Given the description of an element on the screen output the (x, y) to click on. 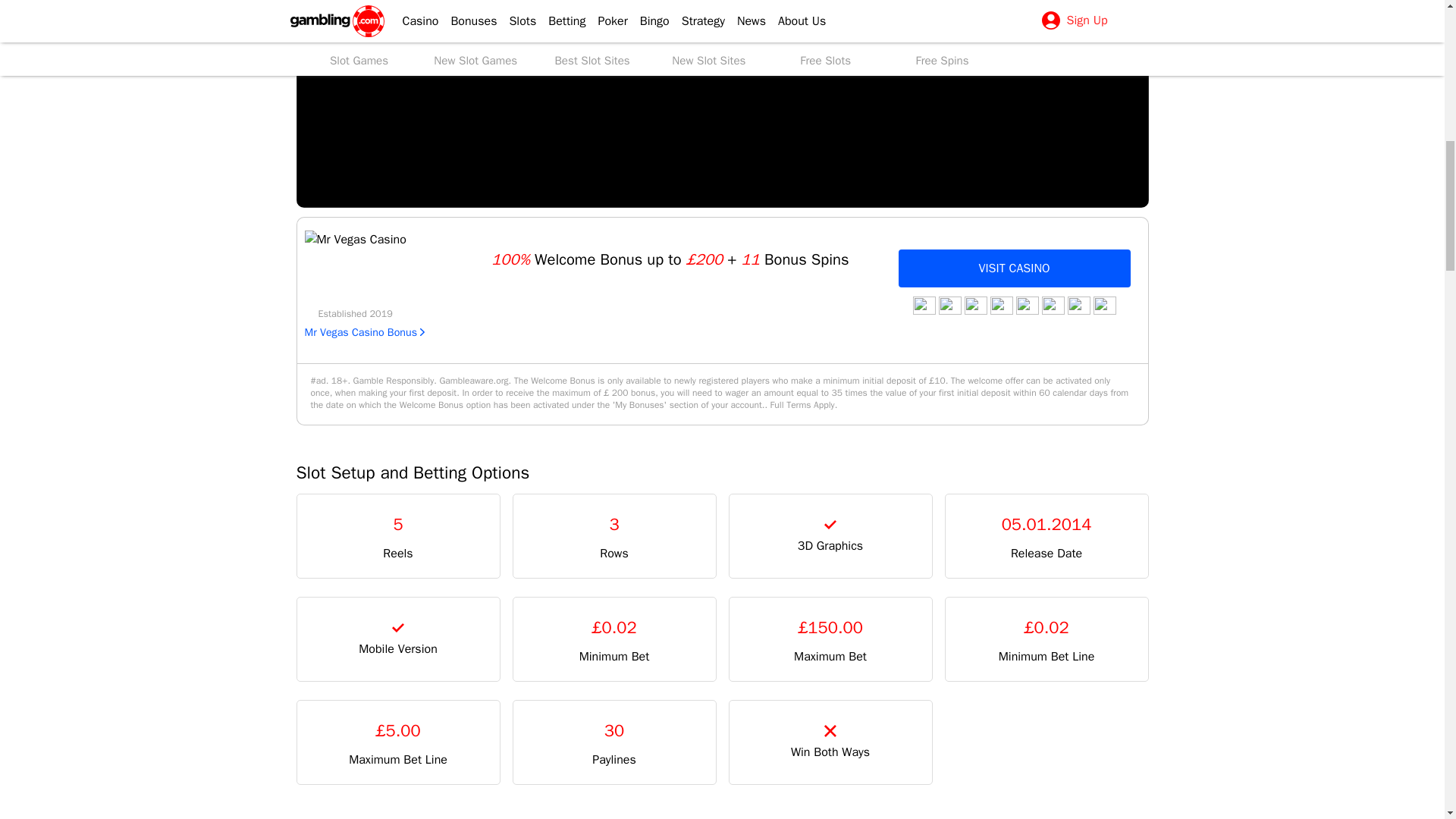
MasterCard (949, 305)
Mr Vegas Casino (355, 240)
Maestro (1104, 305)
VISA (924, 305)
PayPal (975, 305)
Trustly (1001, 305)
NETELLER (1078, 305)
Skrill (1027, 305)
Paysafecard (1053, 305)
